Given the description of an element on the screen output the (x, y) to click on. 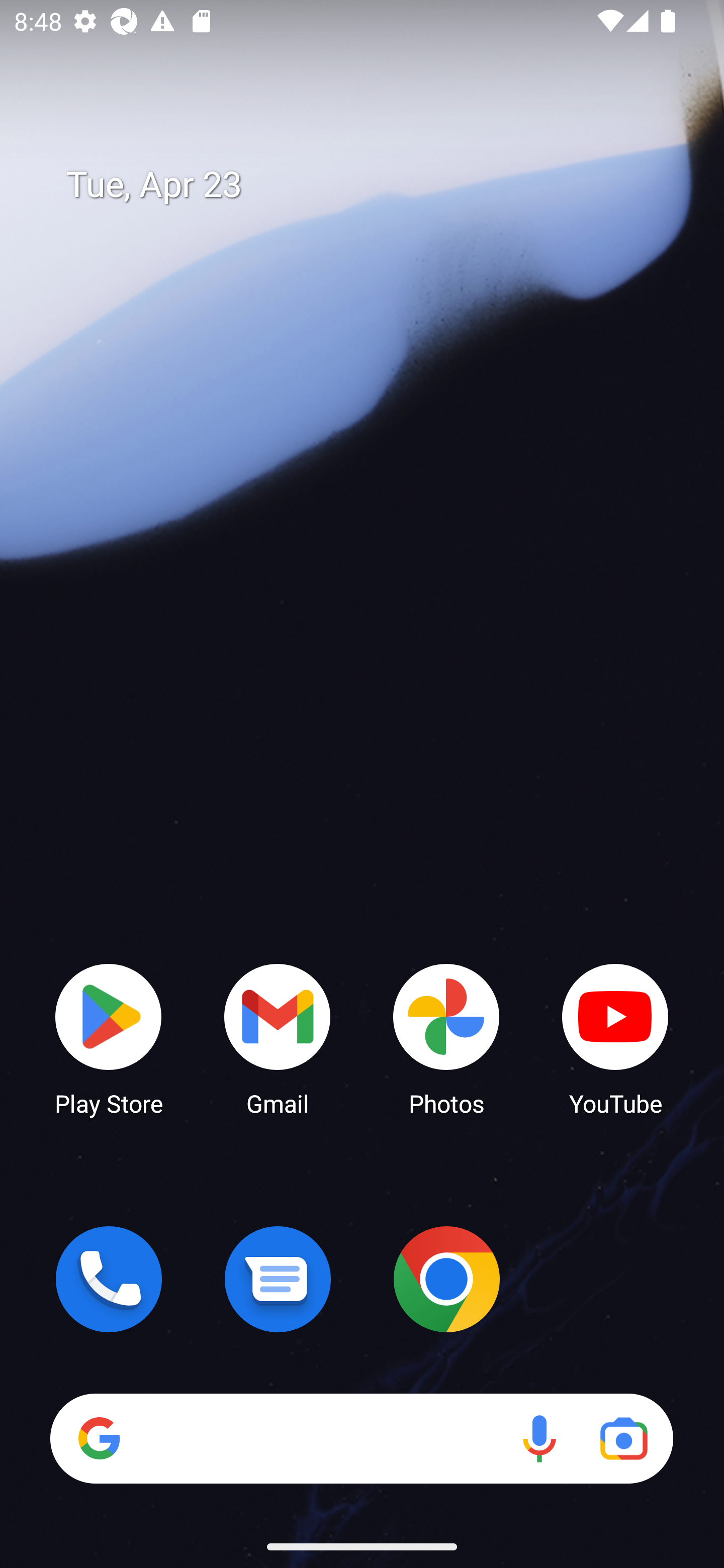
Tue, Apr 23 (375, 184)
Play Store (108, 1038)
Gmail (277, 1038)
Photos (445, 1038)
YouTube (615, 1038)
Phone (108, 1279)
Messages (277, 1279)
Chrome (446, 1279)
Search Voice search Google Lens (361, 1438)
Voice search (539, 1438)
Google Lens (623, 1438)
